Given the description of an element on the screen output the (x, y) to click on. 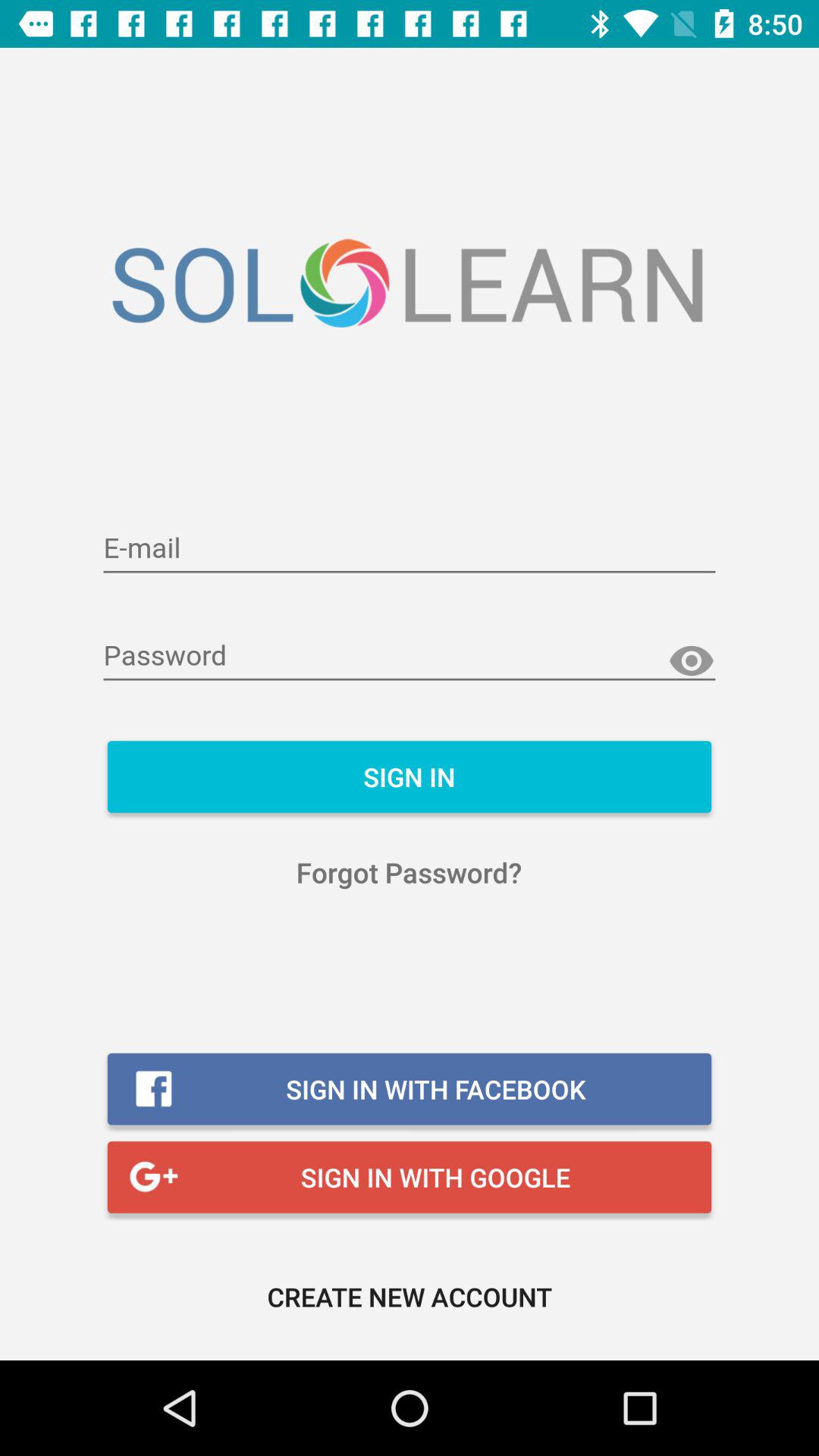
make password visible (691, 661)
